Given the description of an element on the screen output the (x, y) to click on. 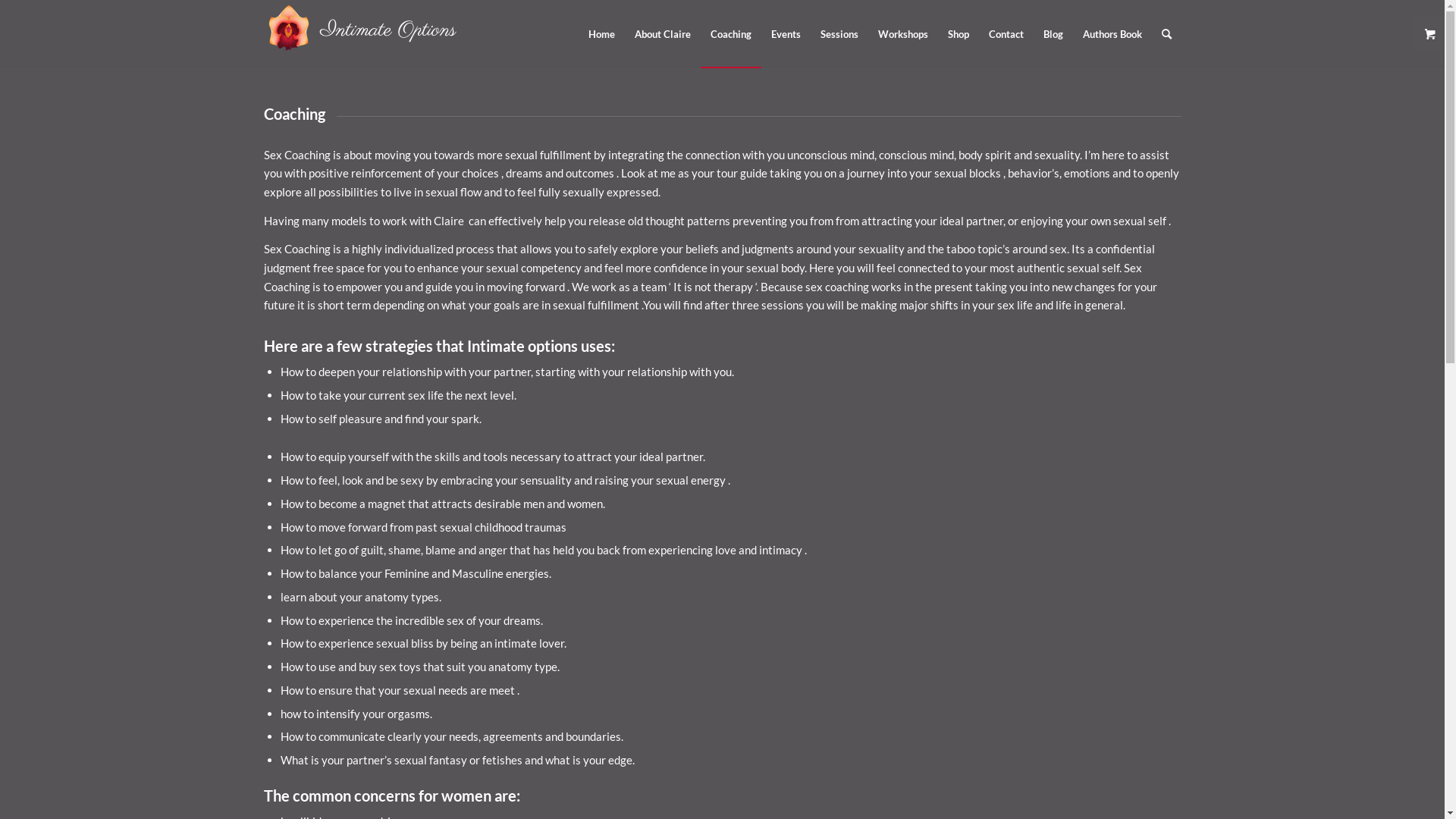
Blog Element type: text (1052, 33)
Workshops Element type: text (902, 33)
Home Element type: text (600, 33)
Authors Book Element type: text (1111, 33)
Contact Element type: text (1005, 33)
About Claire Element type: text (662, 33)
Shop Element type: text (957, 33)
Coaching Element type: text (730, 33)
Events Element type: text (785, 33)
Sessions Element type: text (838, 33)
